Given the description of an element on the screen output the (x, y) to click on. 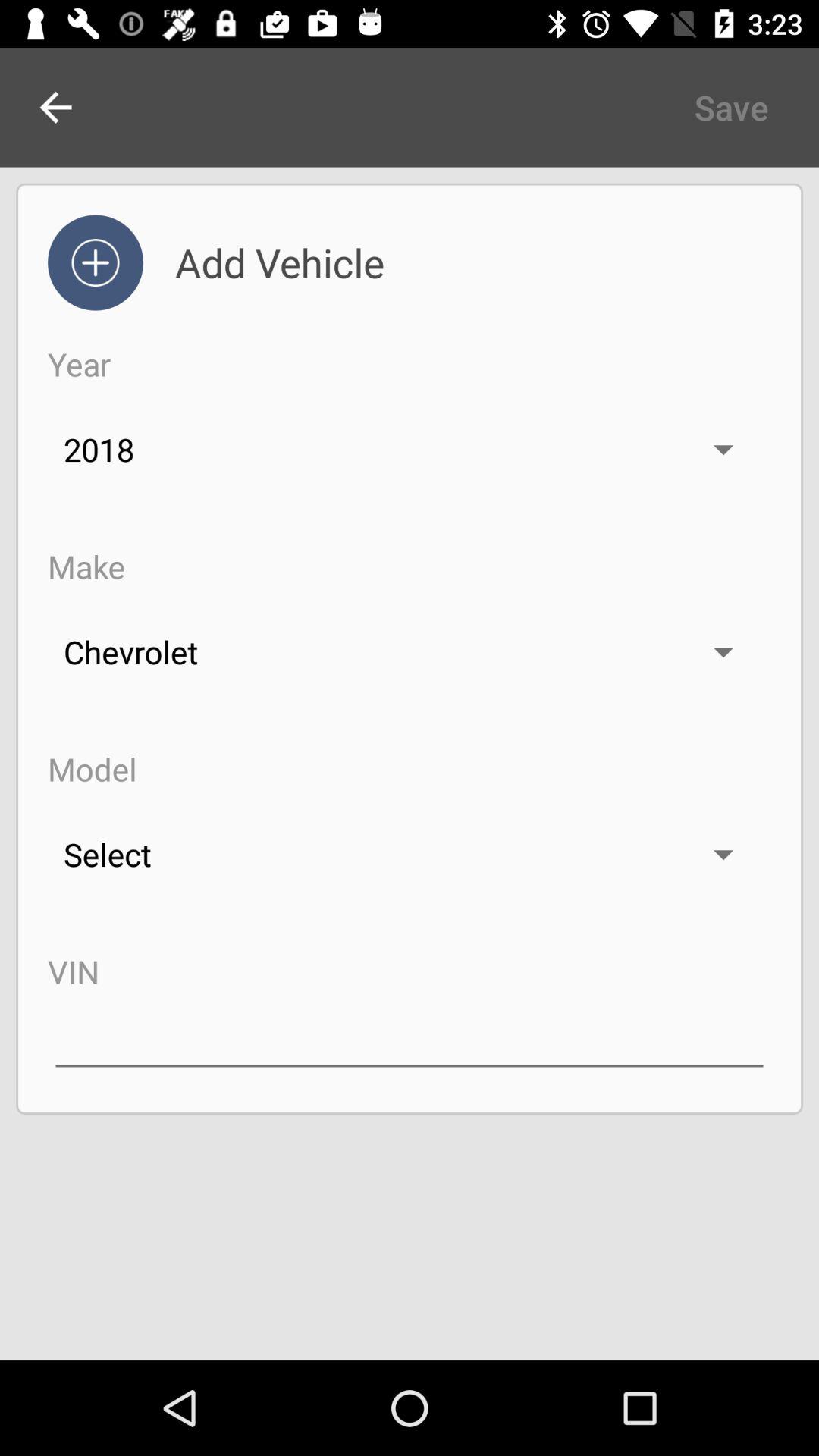
enter the vin (409, 1037)
